Given the description of an element on the screen output the (x, y) to click on. 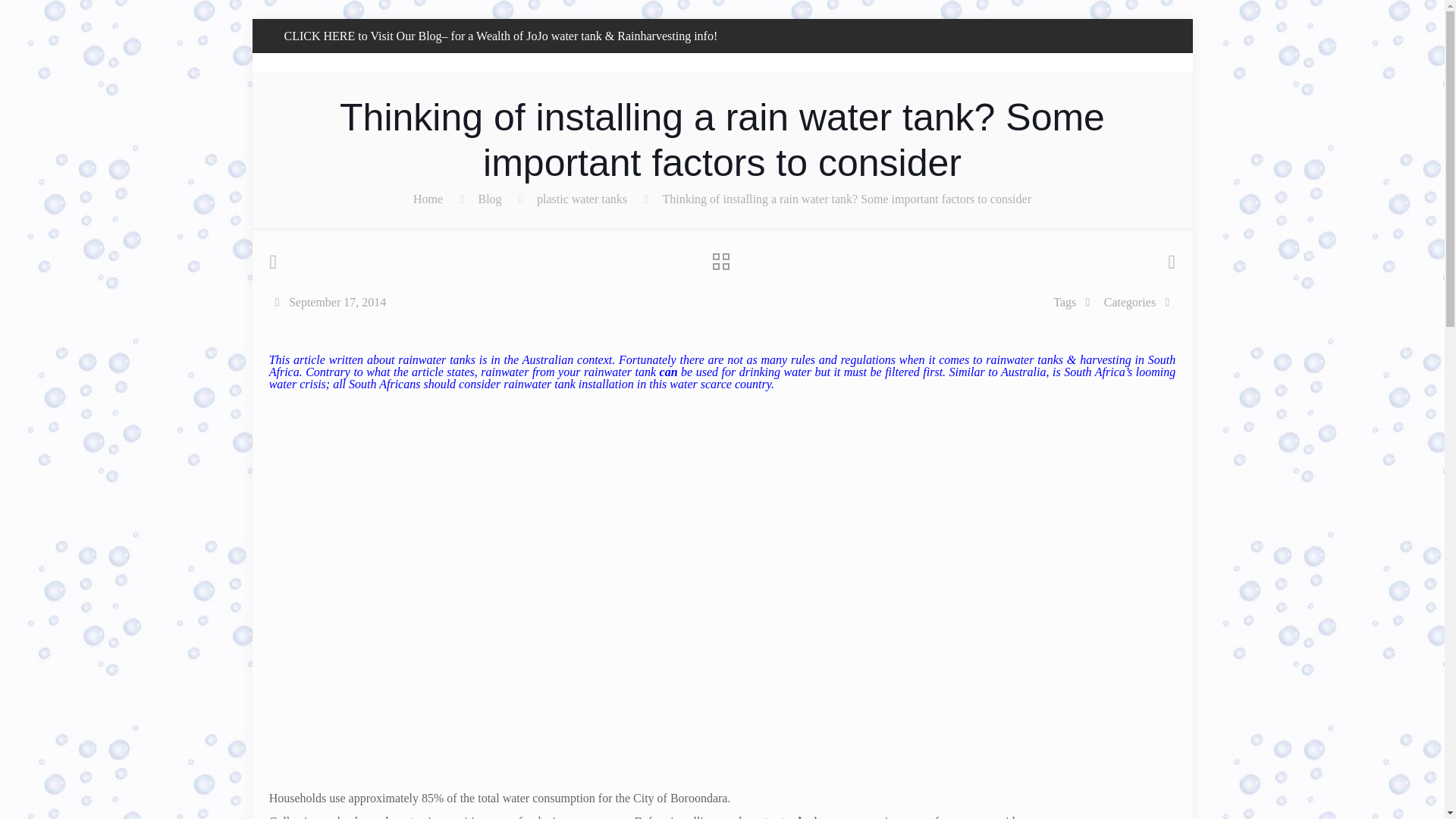
plastic water tanks (582, 198)
Blog (488, 198)
Home (427, 198)
